Given the description of an element on the screen output the (x, y) to click on. 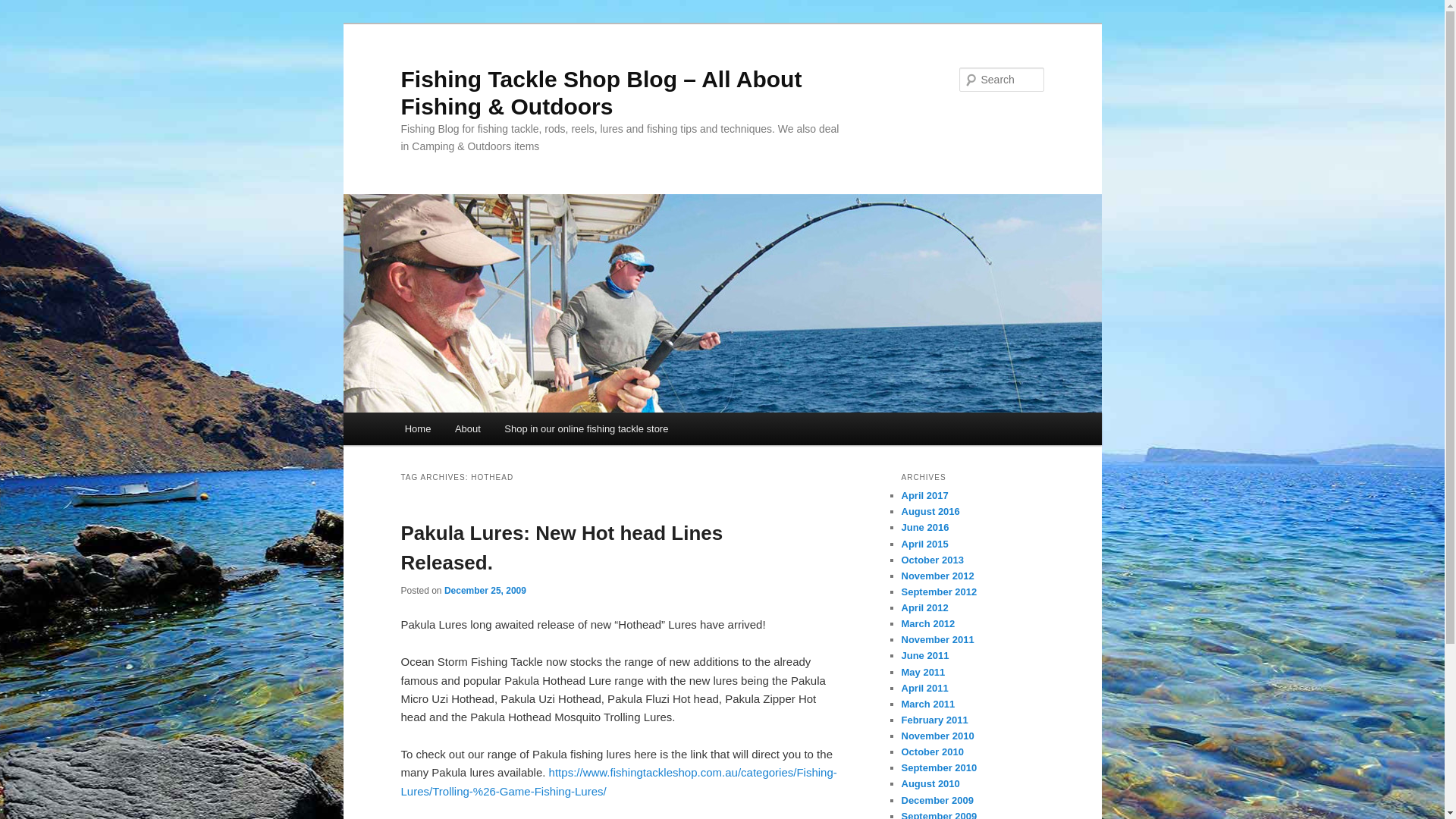
About Element type: text (467, 428)
March 2012 Element type: text (927, 623)
June 2011 Element type: text (924, 655)
October 2010 Element type: text (931, 751)
April 2012 Element type: text (923, 607)
June 2016 Element type: text (924, 527)
Skip to primary content Element type: text (22, 22)
Home Element type: text (417, 428)
April 2017 Element type: text (923, 495)
September 2010 Element type: text (938, 767)
September 2012 Element type: text (938, 591)
February 2011 Element type: text (933, 719)
May 2011 Element type: text (922, 671)
March 2011 Element type: text (927, 703)
April 2011 Element type: text (923, 687)
December 2009 Element type: text (936, 800)
October 2013 Element type: text (931, 559)
November 2011 Element type: text (936, 639)
August 2016 Element type: text (929, 511)
November 2010 Element type: text (936, 735)
August 2010 Element type: text (929, 783)
Search Element type: text (24, 8)
Shop in our online fishing tackle store Element type: text (586, 428)
November 2012 Element type: text (936, 575)
Pakula Lures: New Hot head Lines Released. Element type: text (561, 547)
April 2015 Element type: text (923, 543)
December 25, 2009 Element type: text (485, 590)
